Given the description of an element on the screen output the (x, y) to click on. 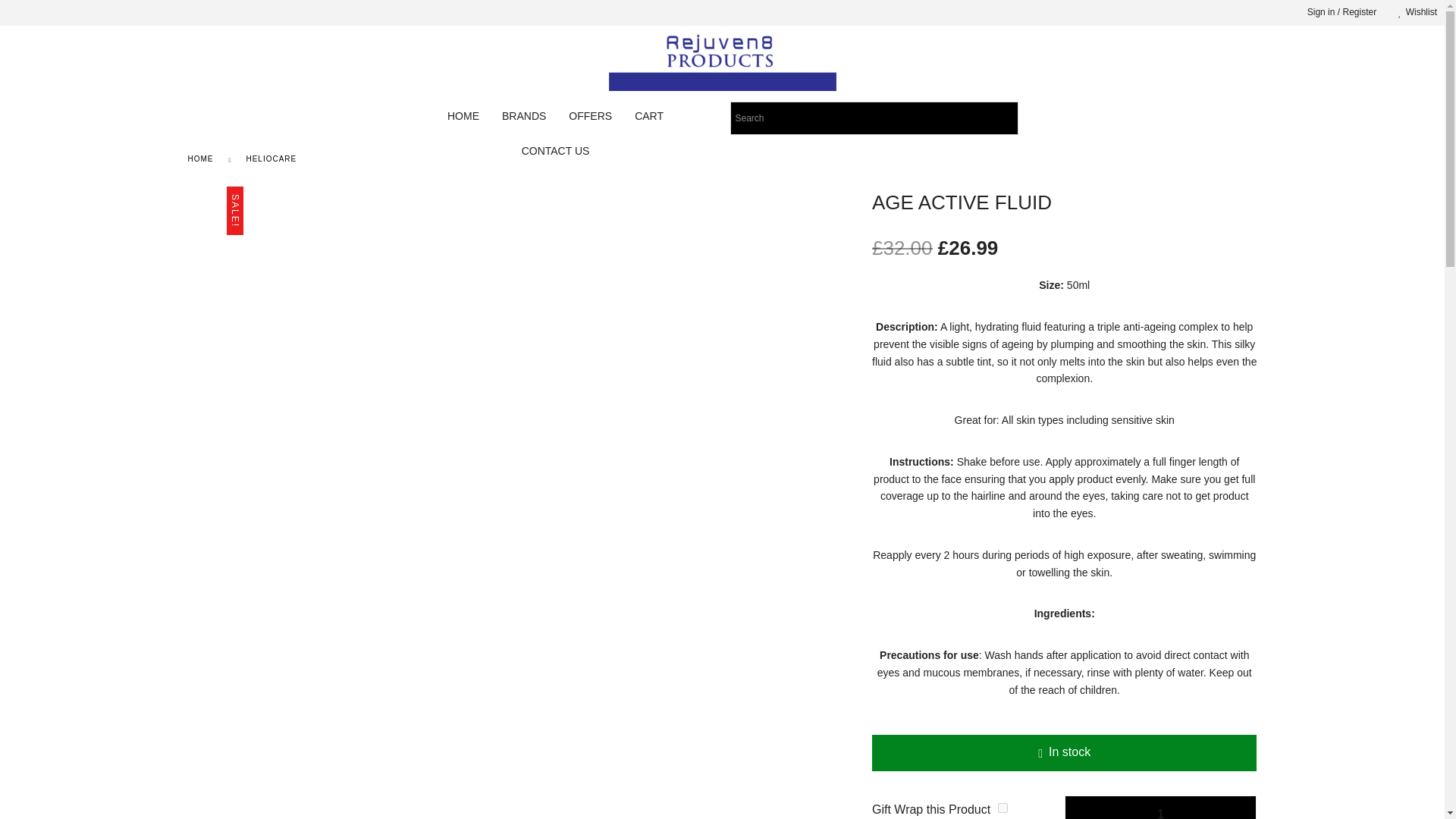
1 (1160, 807)
on (1002, 808)
CONTACT US (556, 150)
CART (649, 115)
BRANDS (523, 115)
OFFERS (590, 115)
HOME (462, 115)
Wishlist (1413, 12)
